Given the description of an element on the screen output the (x, y) to click on. 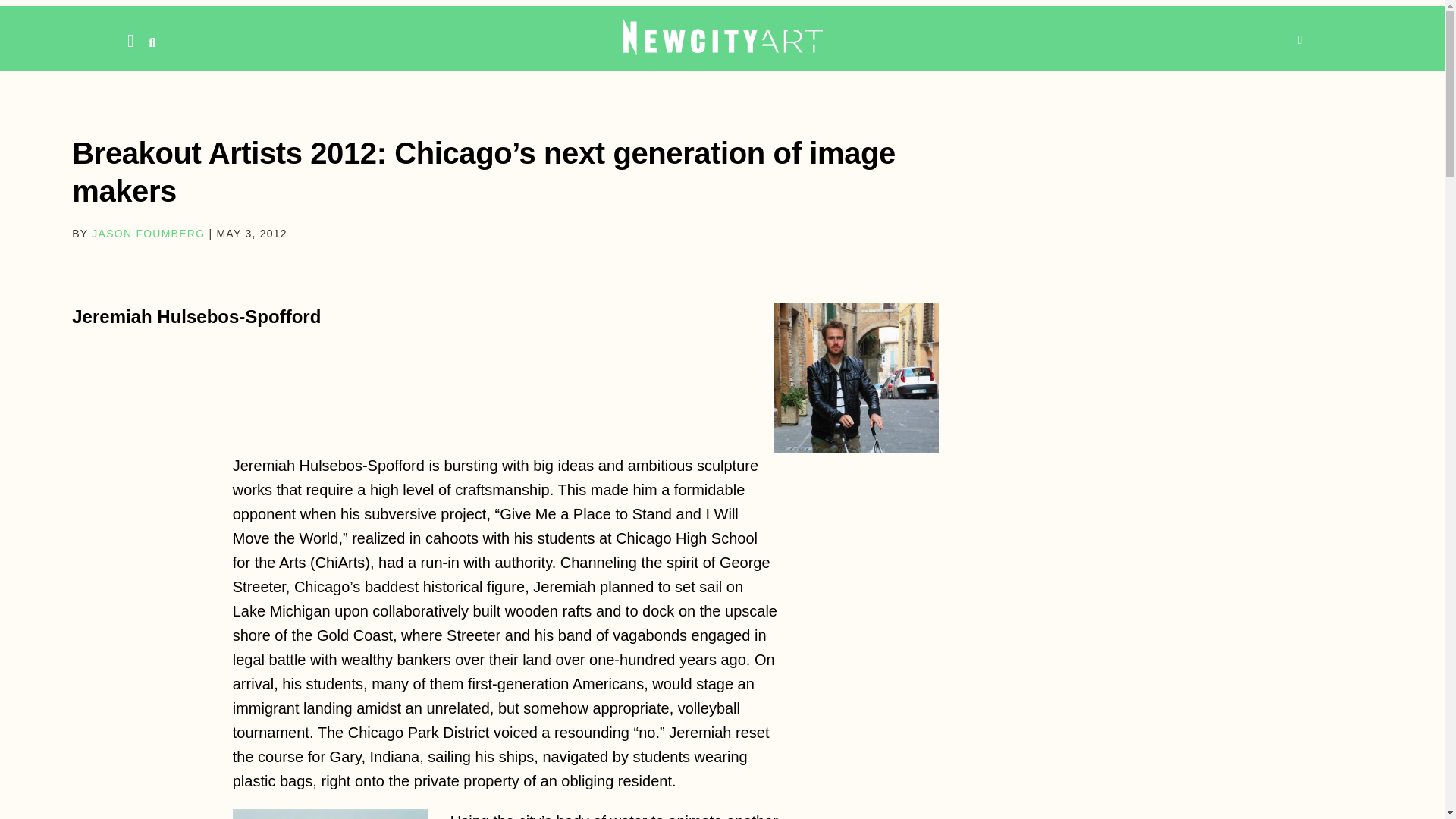
NewcityArt (721, 36)
Umbria (856, 377)
JASON FOUMBERG (148, 233)
3 (330, 814)
